Given the description of an element on the screen output the (x, y) to click on. 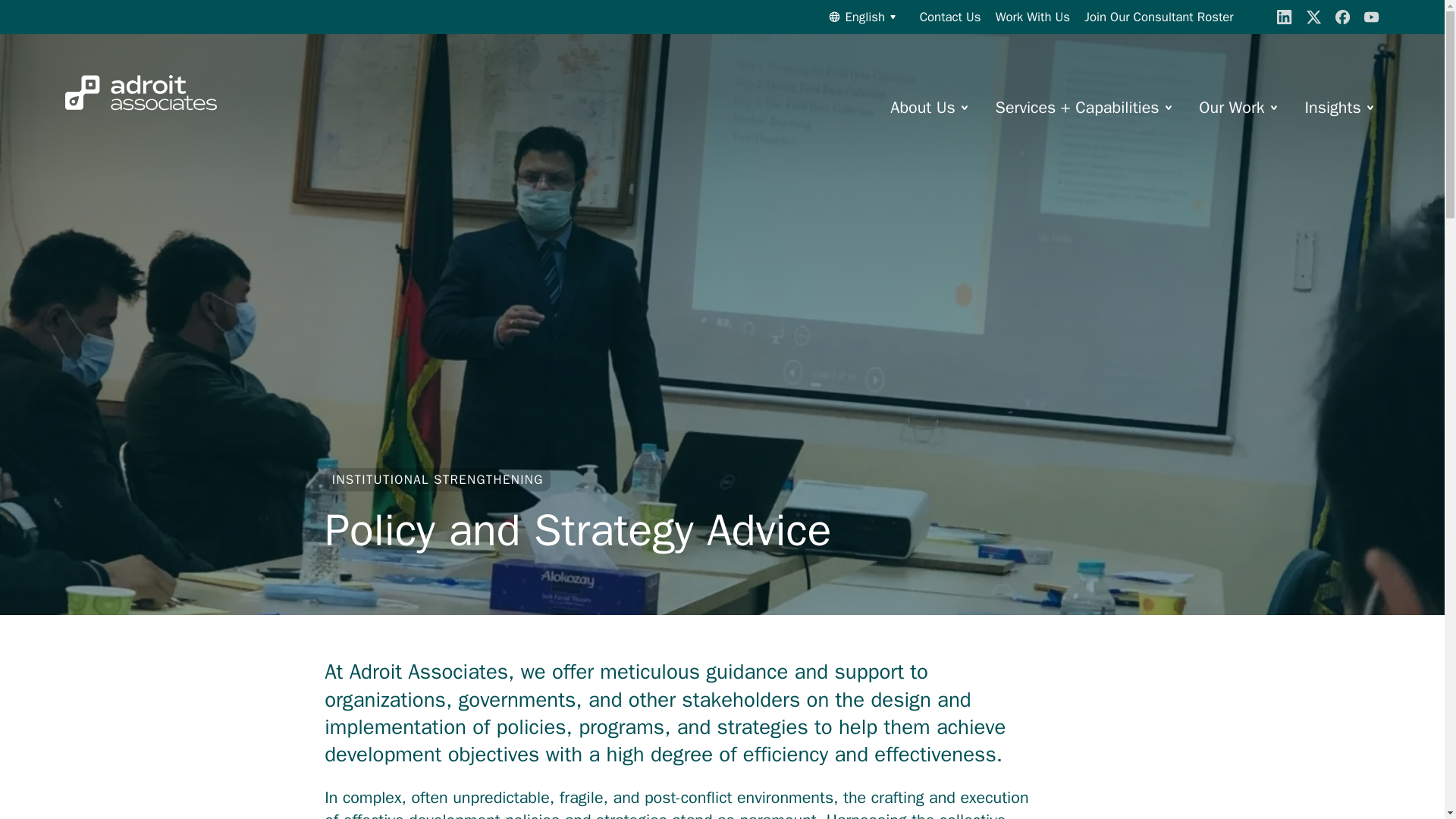
LinkedIn (1283, 16)
Join Our Consultant Roster (1158, 17)
Permanent link to this page (577, 529)
Contact Us (950, 17)
X (1313, 16)
English (862, 17)
More links (964, 106)
YouTube (1371, 16)
More links (1273, 106)
Work With Us (1032, 17)
